Given the description of an element on the screen output the (x, y) to click on. 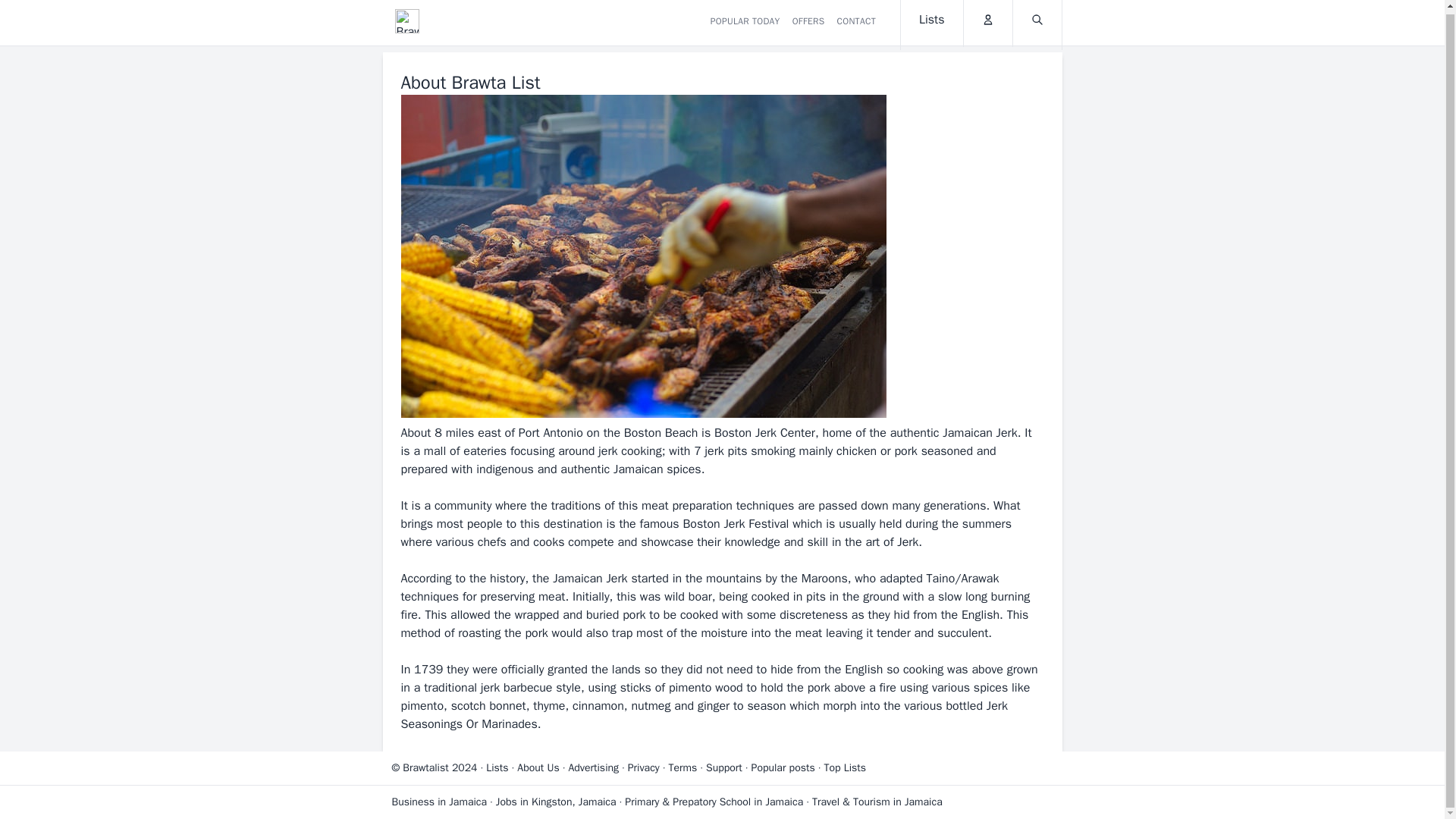
OFFERS (808, 22)
Support (724, 767)
CONTACT (855, 22)
Lists (497, 767)
Business in Jamaica (438, 801)
Jobs in Kingston, Jamaica (555, 801)
POPULAR TODAY (745, 22)
Account (986, 23)
Terms (682, 767)
Privacy (643, 767)
About Us (537, 767)
Popular posts (783, 767)
Top Lists (845, 767)
Advertising (592, 767)
Search (1037, 23)
